Given the description of an element on the screen output the (x, y) to click on. 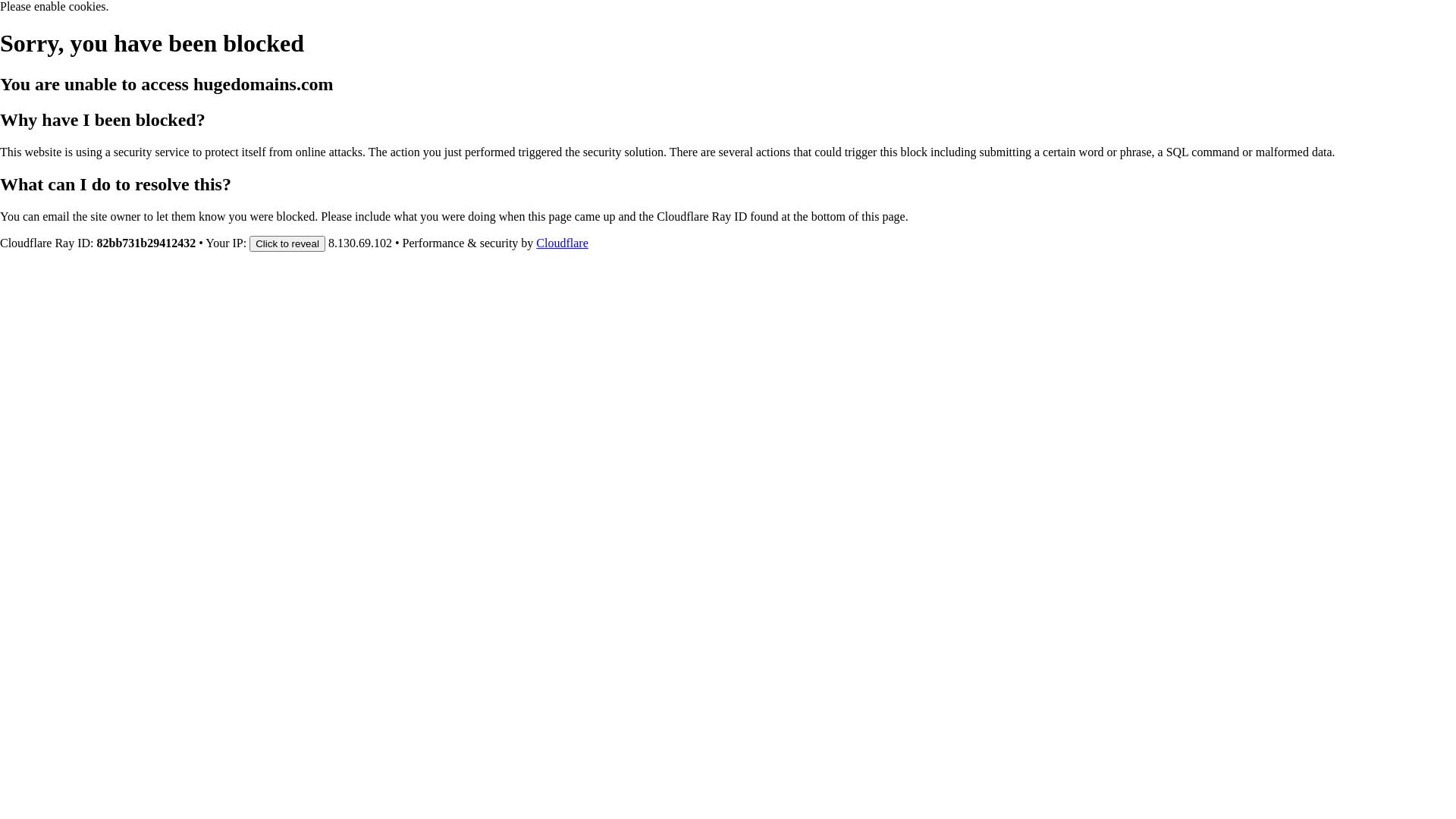
Cloudflare Element type: text (561, 242)
Click to reveal Element type: text (287, 243)
